Given the description of an element on the screen output the (x, y) to click on. 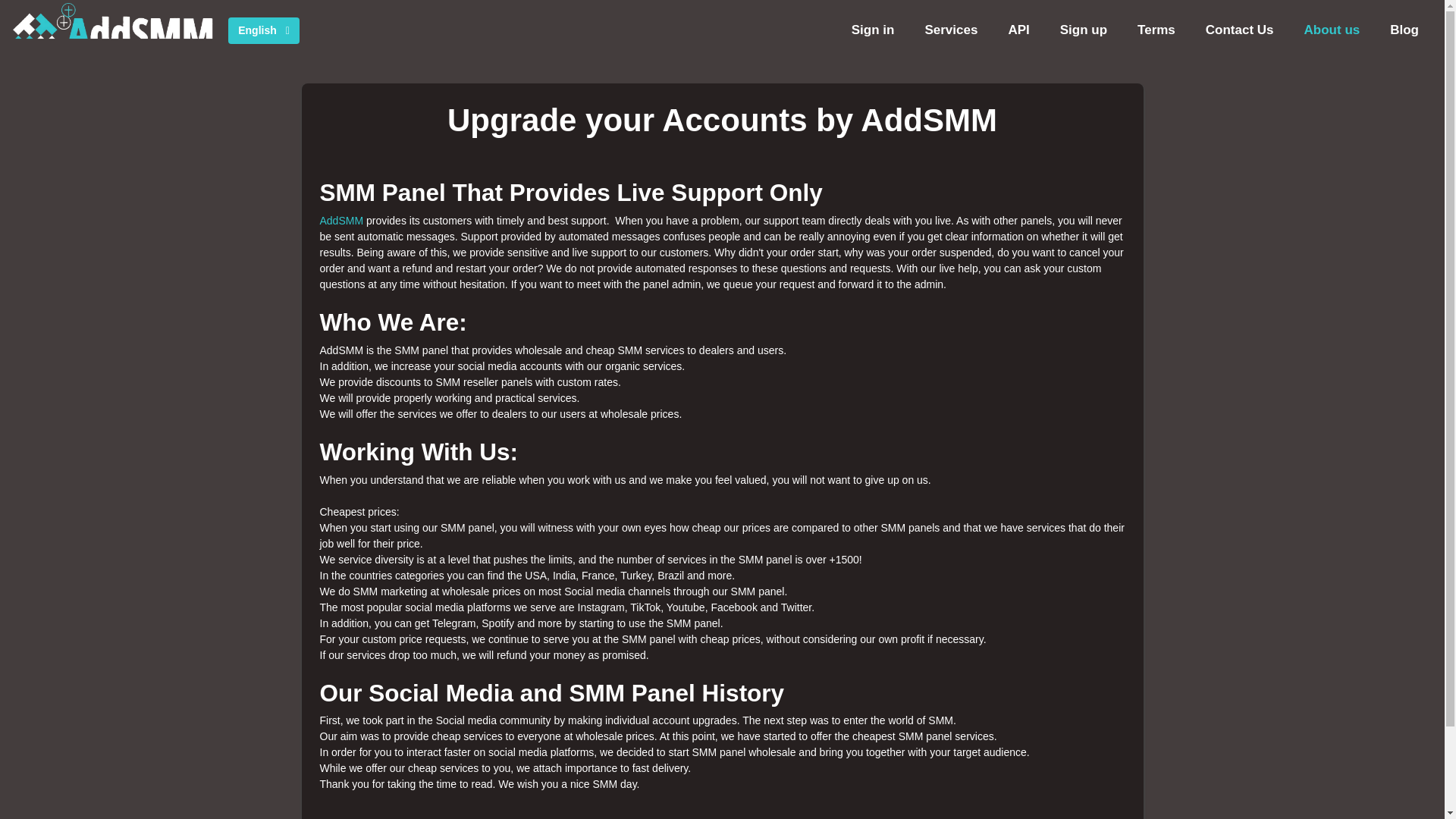
About us (1331, 30)
Sign in (872, 30)
Blog (1404, 30)
AddSMM (342, 220)
Sign up (1083, 30)
AddSMM (114, 30)
Terms (1156, 30)
Contact Us (1239, 30)
API (1017, 30)
Services (950, 30)
